Given the description of an element on the screen output the (x, y) to click on. 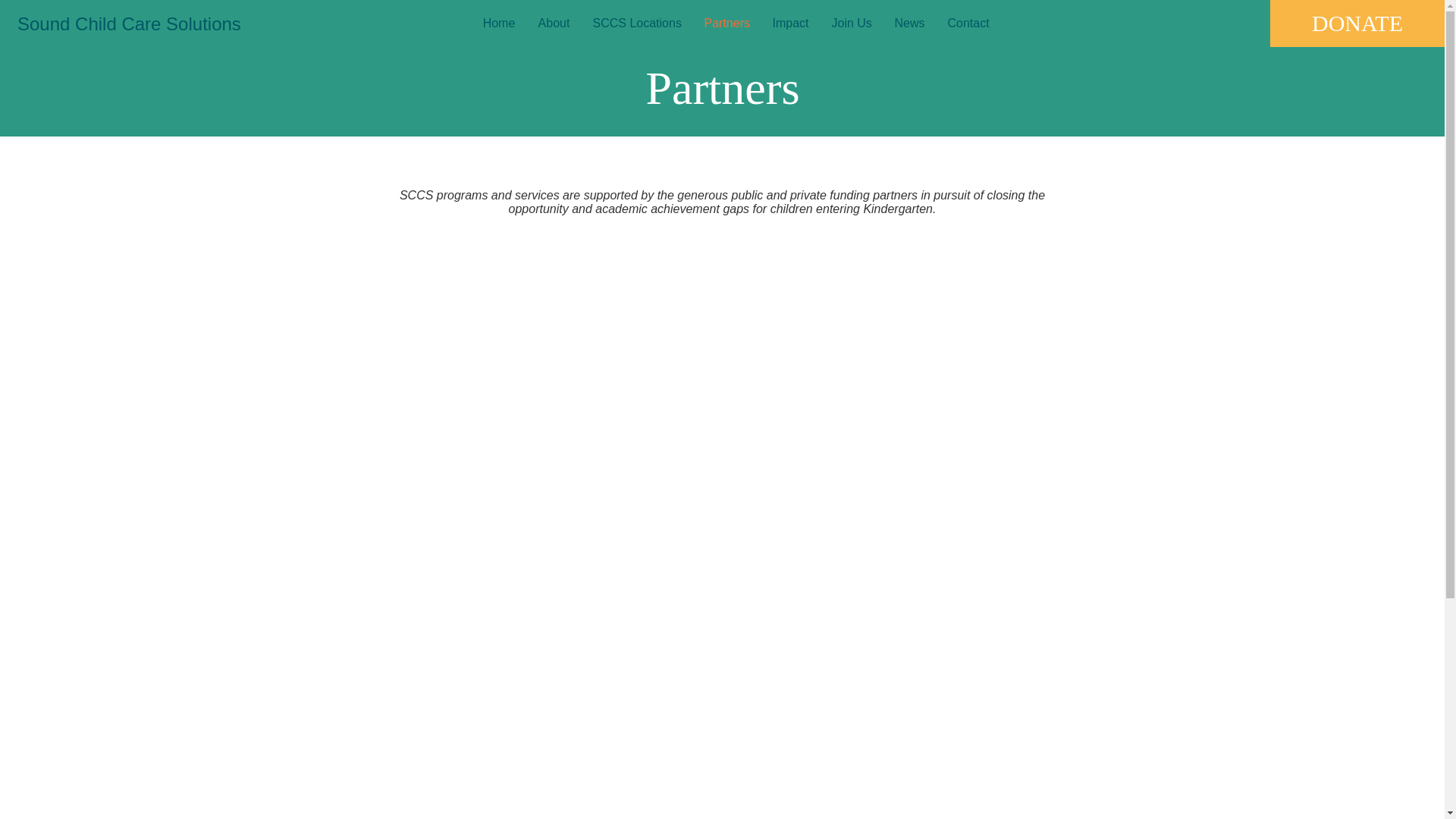
Sound Child Care Solutions (148, 23)
Join Us (852, 23)
About (552, 23)
SCCS Locations (636, 23)
Impact (791, 23)
News (909, 23)
Partners (727, 23)
Home (499, 23)
Contact (968, 23)
